Given the description of an element on the screen output the (x, y) to click on. 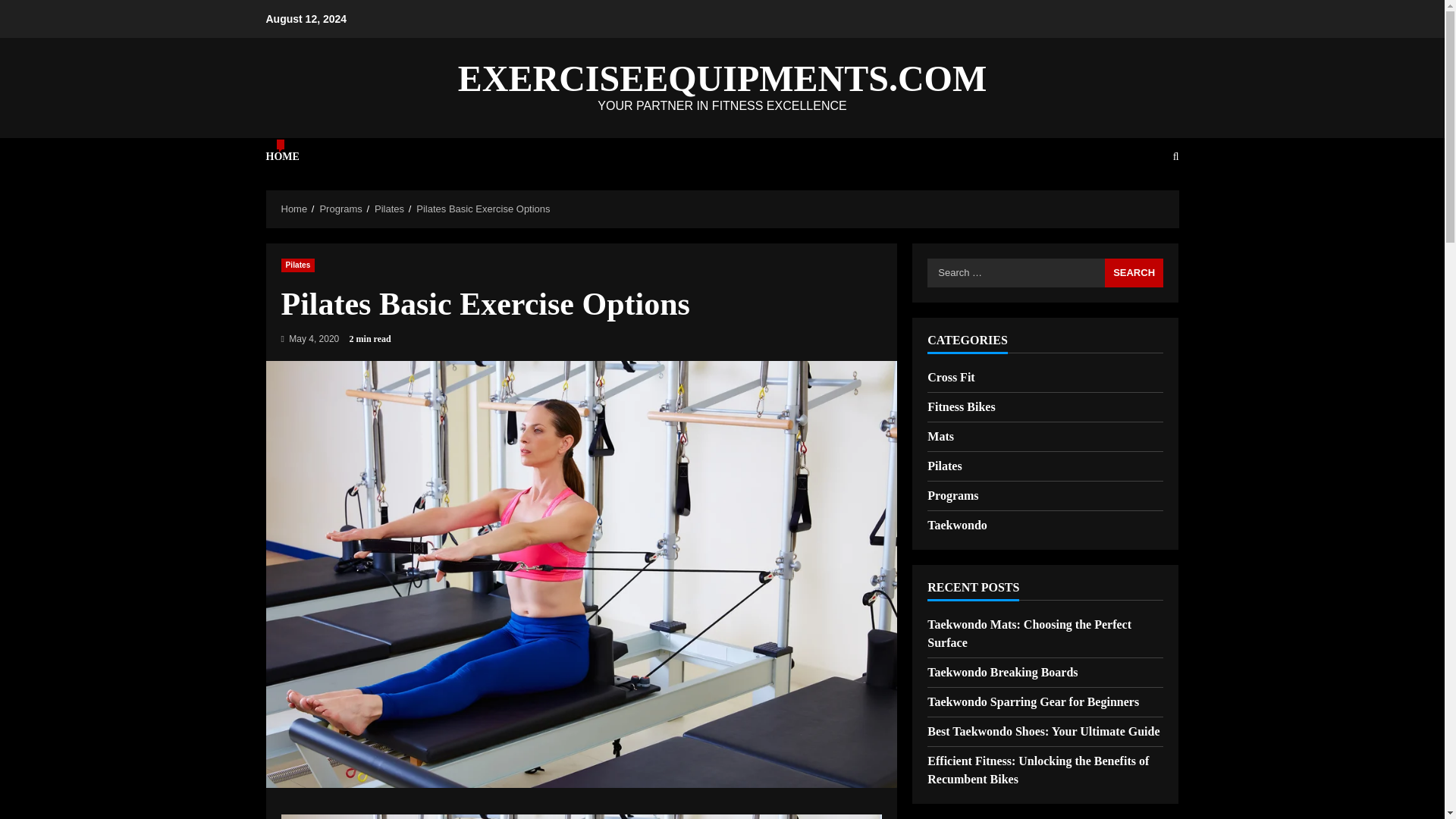
Search (1134, 271)
Taekwondo Mats: Choosing the Perfect Surface (1029, 633)
Pilates (389, 208)
Search (1134, 271)
Pilates (943, 466)
Mats (940, 436)
Taekwondo (957, 525)
Pilates Basic Exercise Options (483, 208)
Pilates (297, 264)
Fitness Bikes (960, 407)
